Given the description of an element on the screen output the (x, y) to click on. 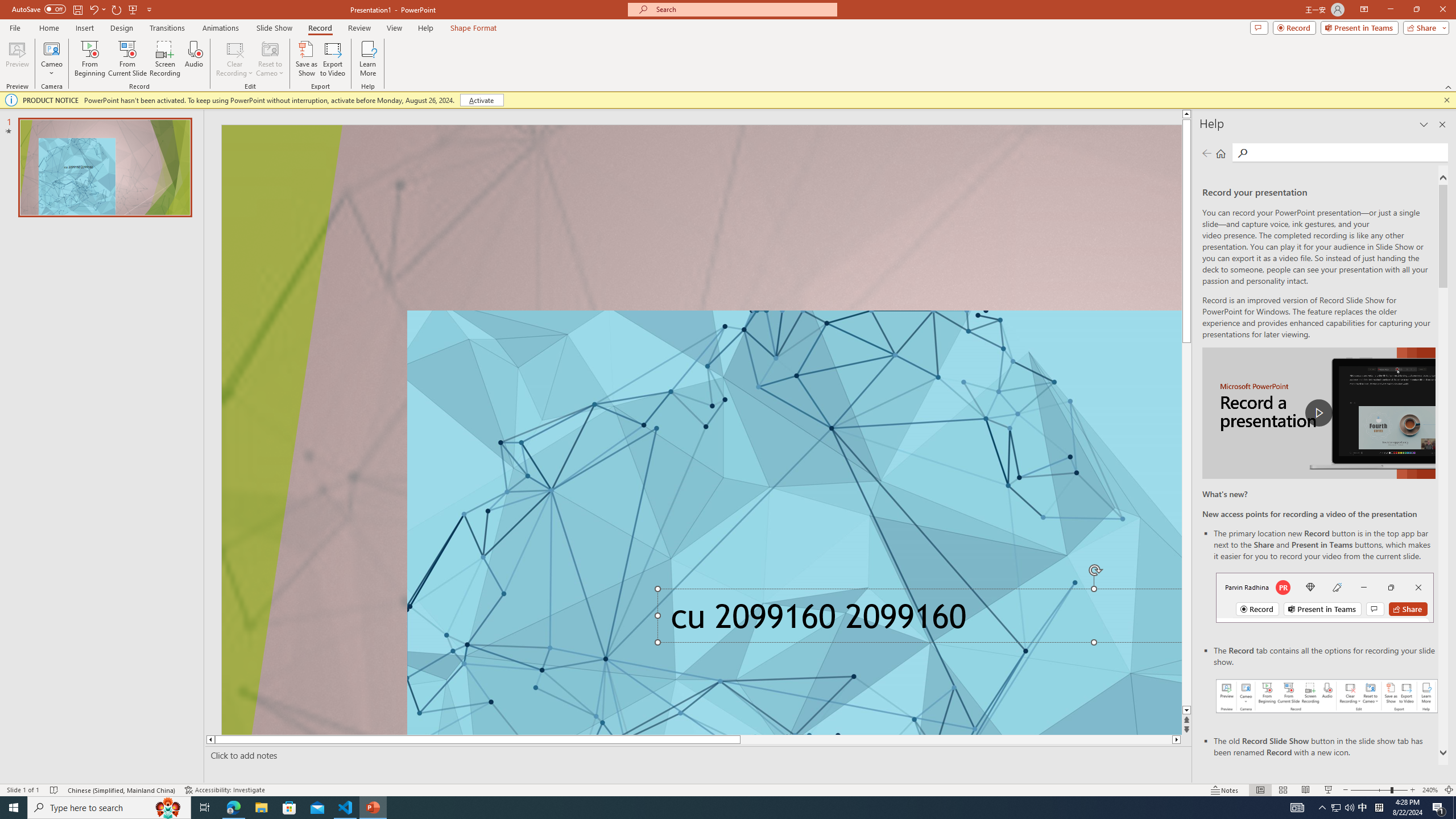
Home (1220, 152)
Record (320, 28)
Audio (193, 58)
View (395, 28)
Activate (481, 100)
Previous page (1206, 152)
Task Pane Options (1423, 124)
System (6, 6)
Microsoft search (742, 9)
TextBox 61 (916, 620)
From Current Slide... (127, 58)
Export to Video (332, 58)
Cameo (51, 58)
